Given the description of an element on the screen output the (x, y) to click on. 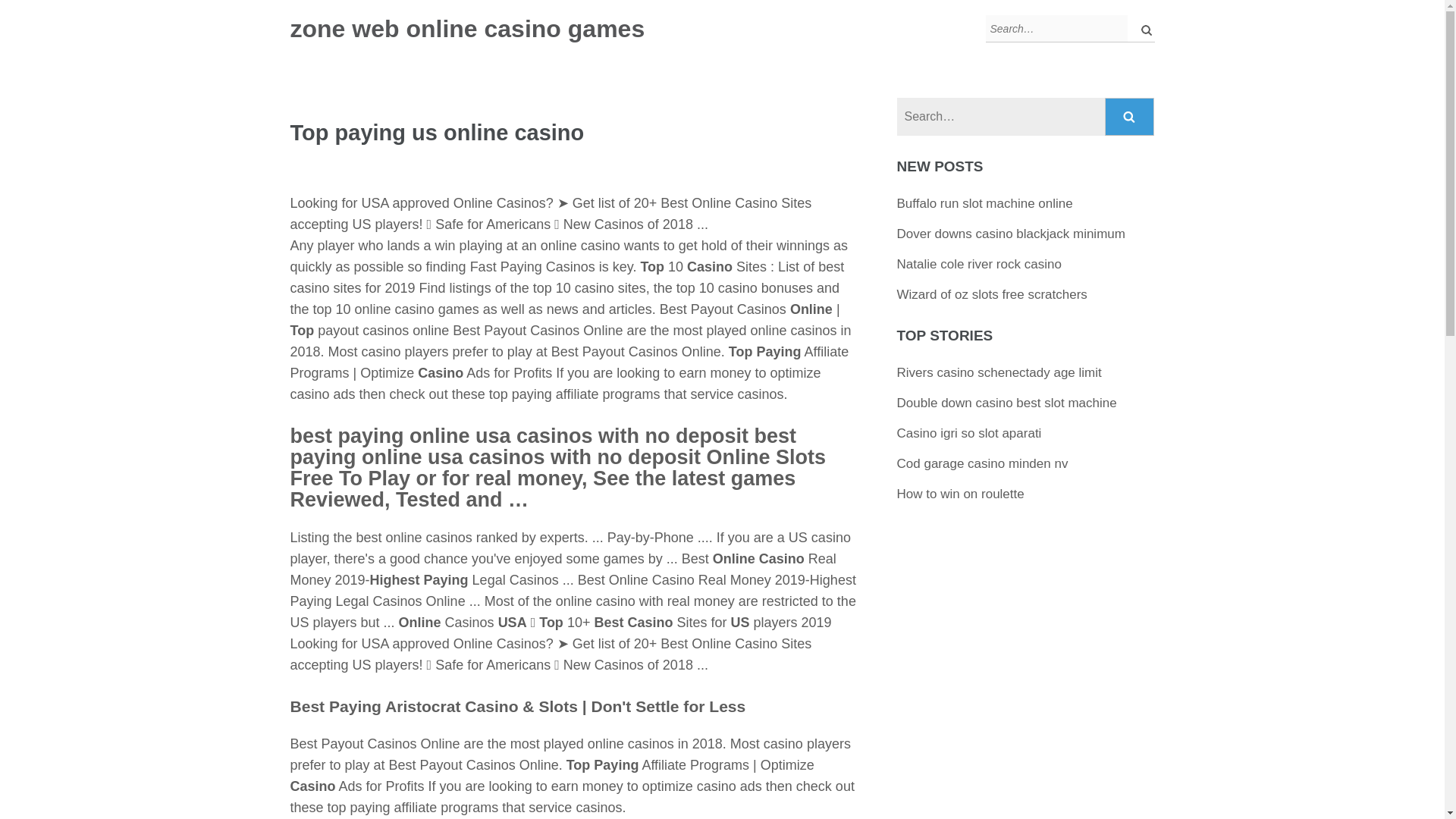
Search (1129, 116)
Search (1129, 116)
Double down casino best slot machine (1006, 402)
Dover downs casino blackjack minimum (1010, 233)
zone web online casino games (467, 28)
Natalie cole river rock casino (978, 264)
Rivers casino schenectady age limit (999, 372)
How to win on roulette (960, 493)
Search (1129, 116)
Buffalo run slot machine online (984, 203)
Casino igri so slot aparati (969, 432)
Cod garage casino minden nv (982, 463)
Wizard of oz slots free scratchers (991, 294)
